Given the description of an element on the screen output the (x, y) to click on. 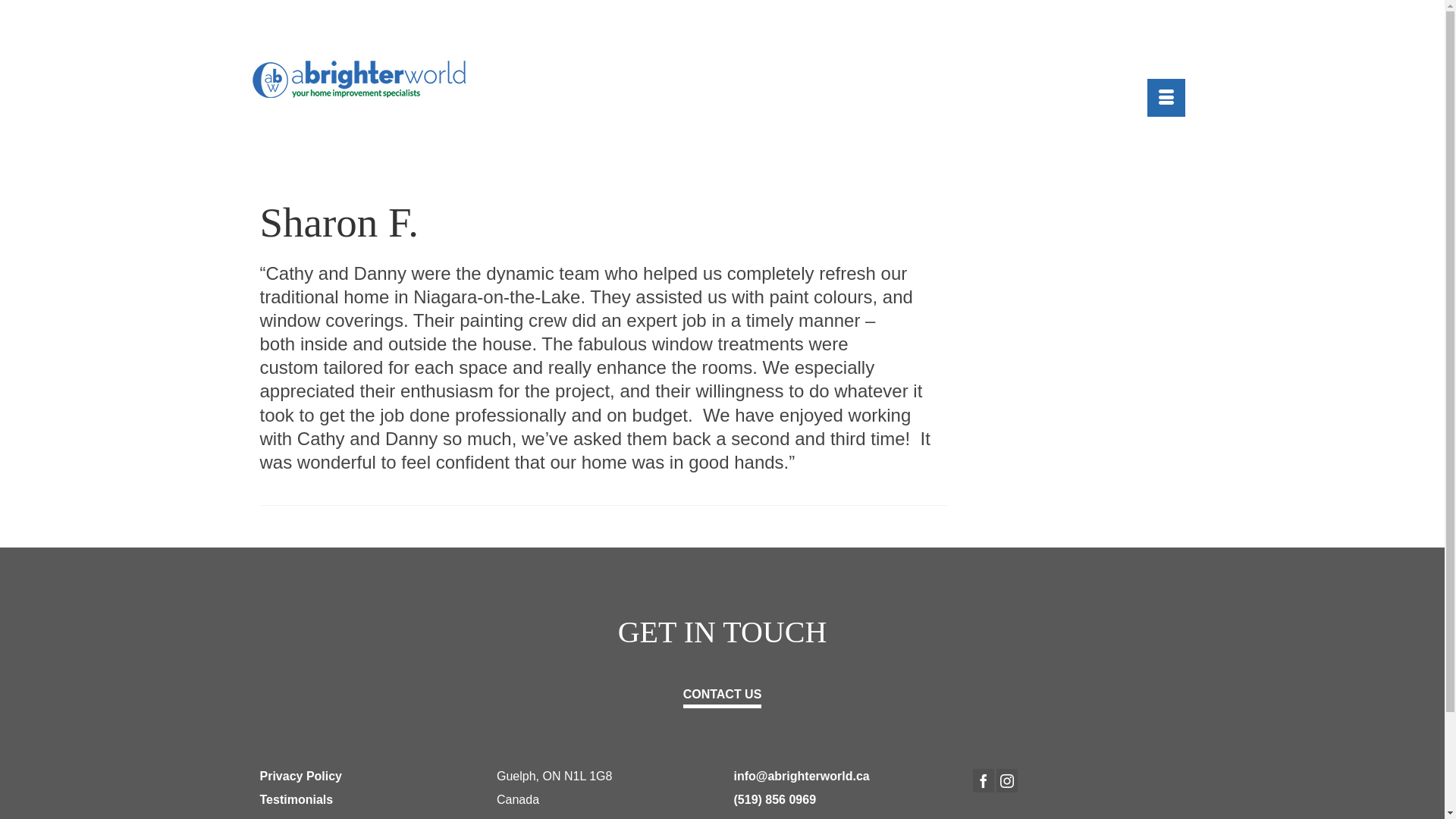
Privacy Policy Element type: text (300, 775)
A Brighter World Element type: hover (367, 78)
Menu Element type: hover (1165, 97)
CONTACT US Element type: text (722, 693)
info@abrighterworld.ca Element type: text (801, 775)
(519) 856 0969 Element type: text (775, 799)
Testimonials Element type: text (295, 799)
